Given the description of an element on the screen output the (x, y) to click on. 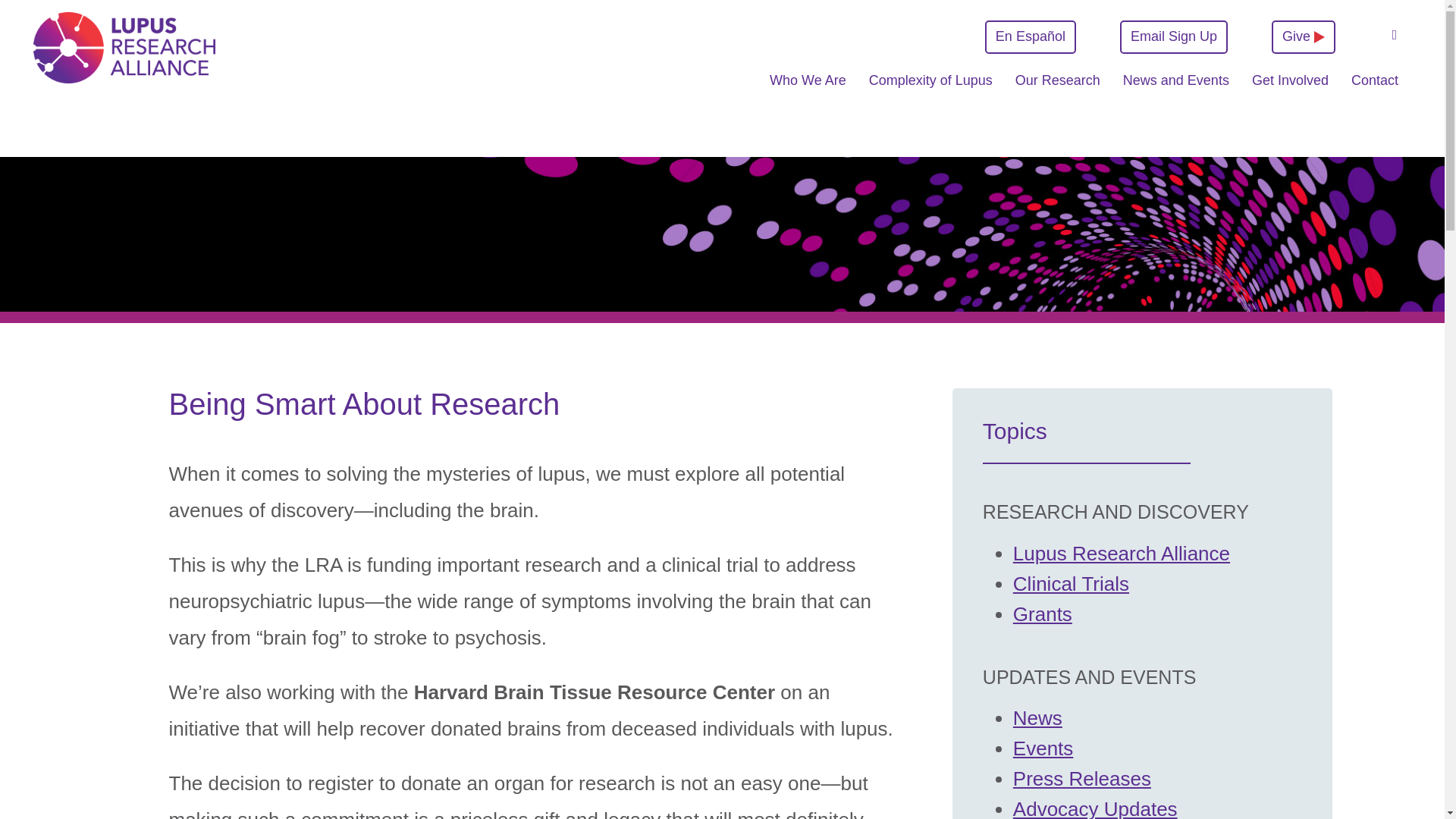
Search (1393, 35)
Who We Are (807, 87)
Email Sign Up (1173, 37)
Complexity of Lupus (930, 87)
Our Research (1057, 87)
Give (1303, 37)
